Given the description of an element on the screen output the (x, y) to click on. 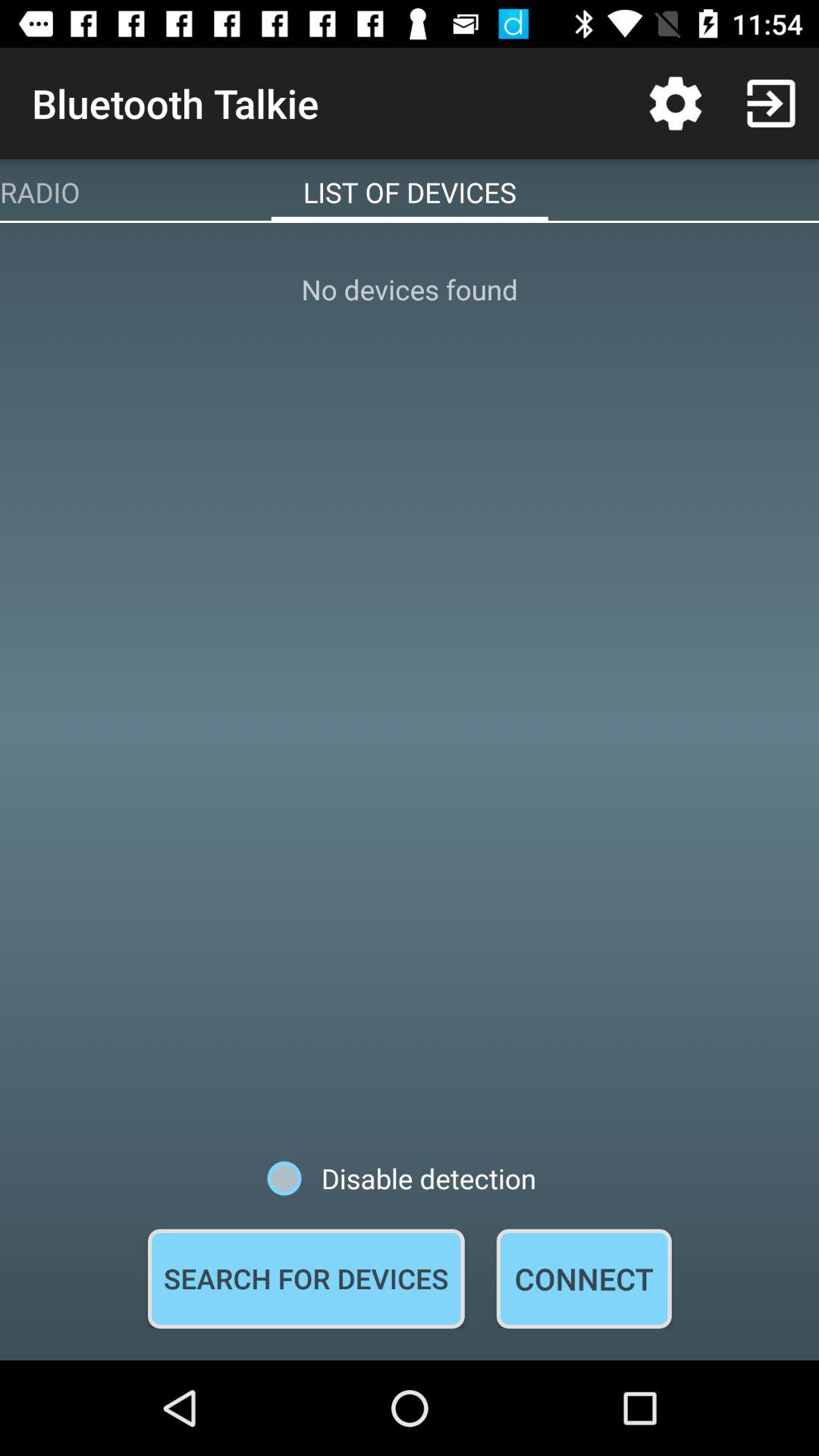
open disable detection icon (401, 1178)
